Given the description of an element on the screen output the (x, y) to click on. 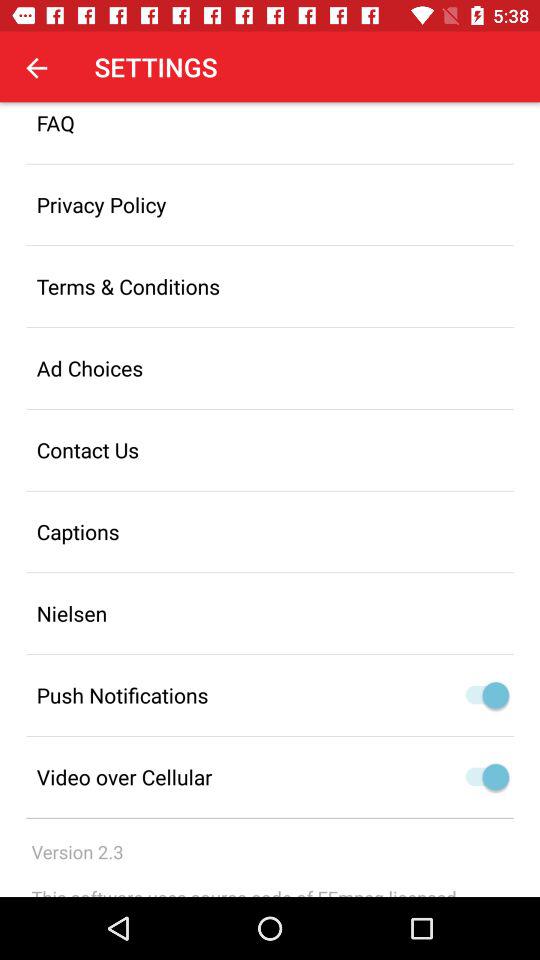
click app next to settings item (36, 67)
